Given the description of an element on the screen output the (x, y) to click on. 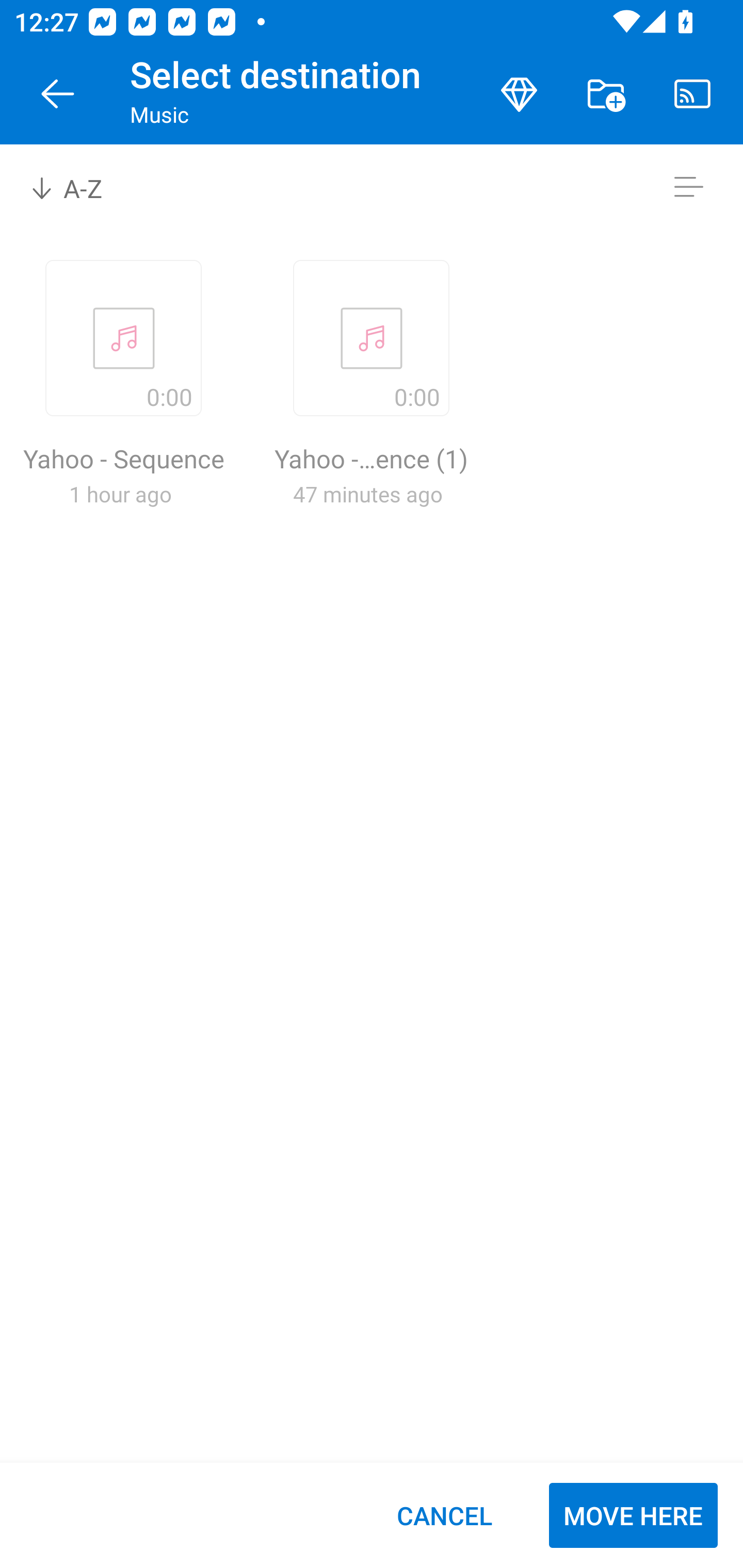
Navigate Up (57, 93)
Cast. Disconnected (692, 93)
Premium button (518, 93)
More actions button (605, 93)
A-Z Sort by combo box, sort by name, A to Z (80, 187)
Switch to list view (688, 187)
1 hour ago (119, 493)
47 minutes ago (367, 493)
CANCEL (443, 1515)
MOVE HERE (633, 1515)
